Given the description of an element on the screen output the (x, y) to click on. 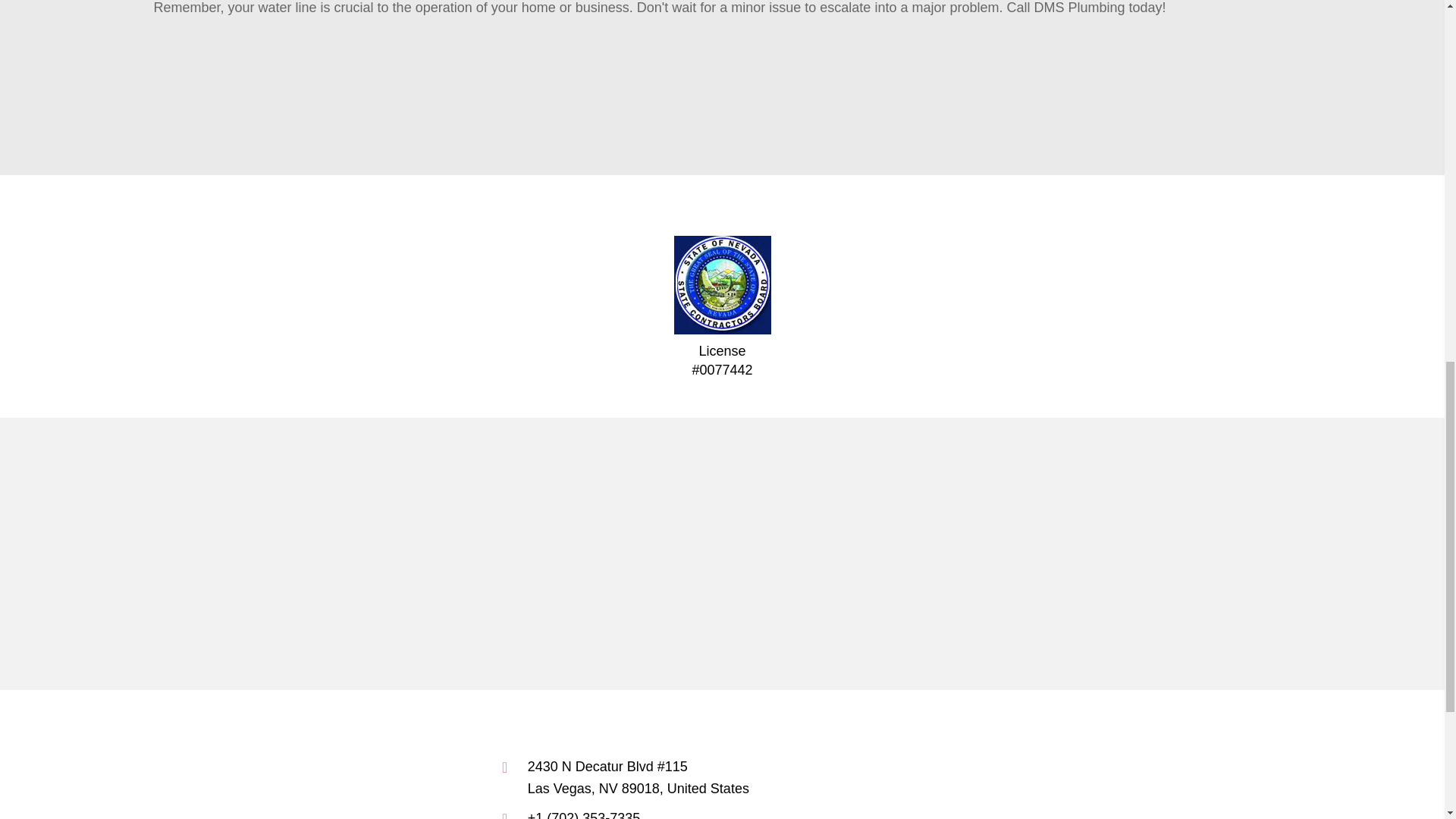
DMS Plumbing, LLC. (502, 553)
DMS Plumbing, LLC. (649, 553)
DMS Plumbing, LLC. (210, 553)
DMS Plumbing, LLC. (357, 553)
nevada-contractor-board (721, 284)
